Given the description of an element on the screen output the (x, y) to click on. 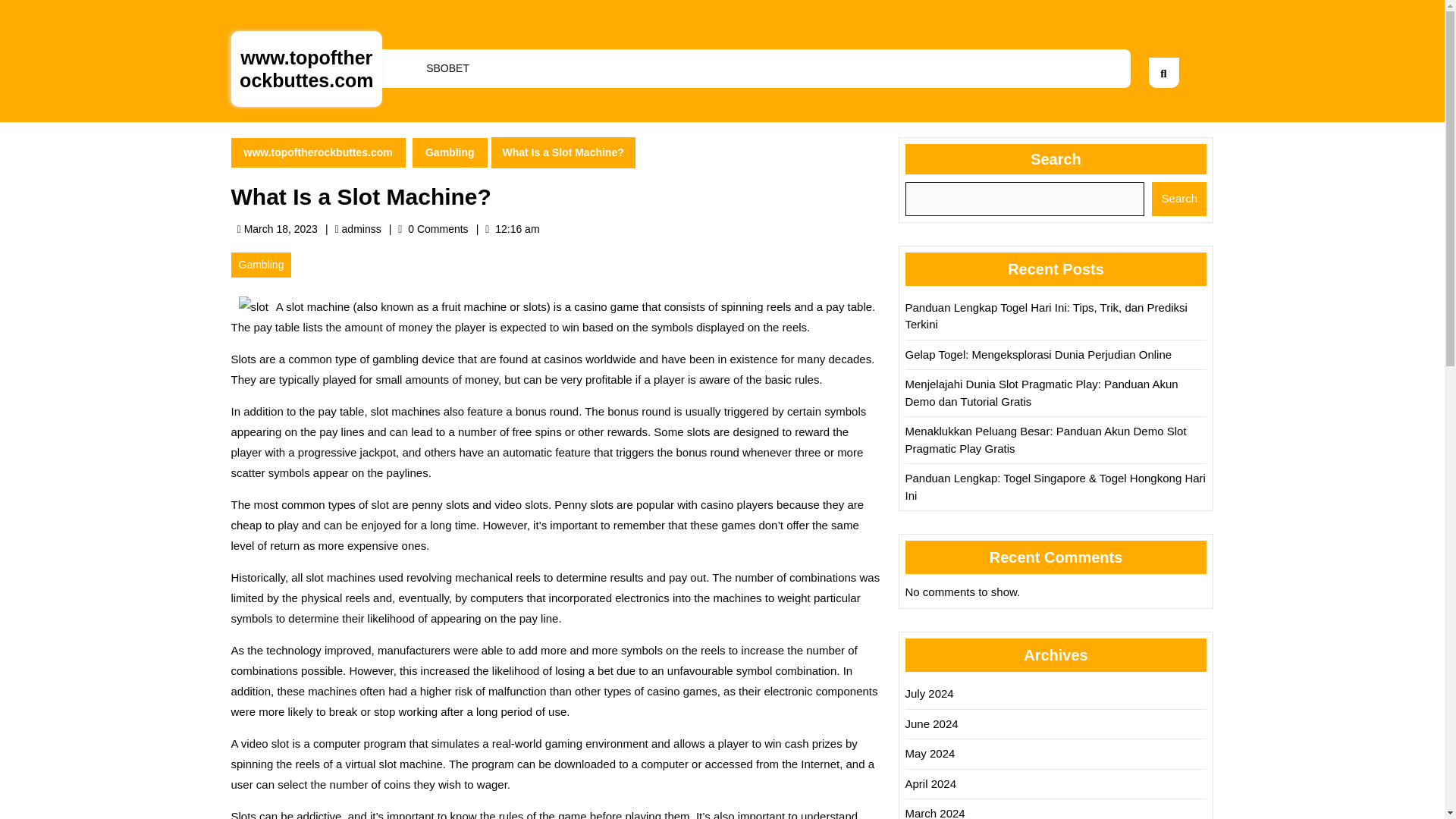
Gambling (260, 264)
Search (1179, 198)
Gambling (449, 152)
SBOBET (448, 68)
July 2024 (929, 693)
June 2024 (361, 228)
March 2024 (931, 723)
